Given the description of an element on the screen output the (x, y) to click on. 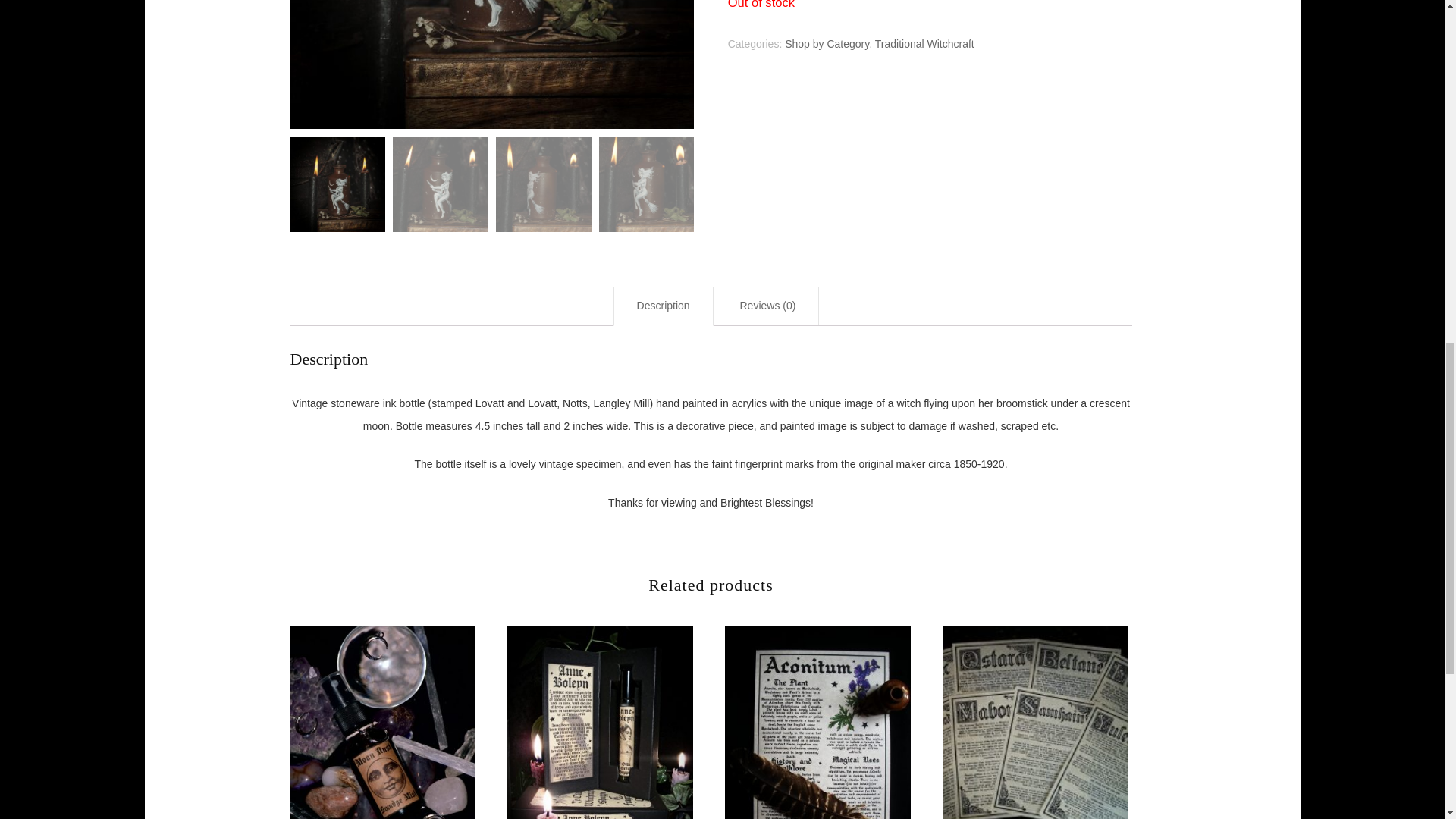
Traditional Witchcraft (924, 43)
Shop by Category (826, 43)
witch (491, 64)
